Given the description of an element on the screen output the (x, y) to click on. 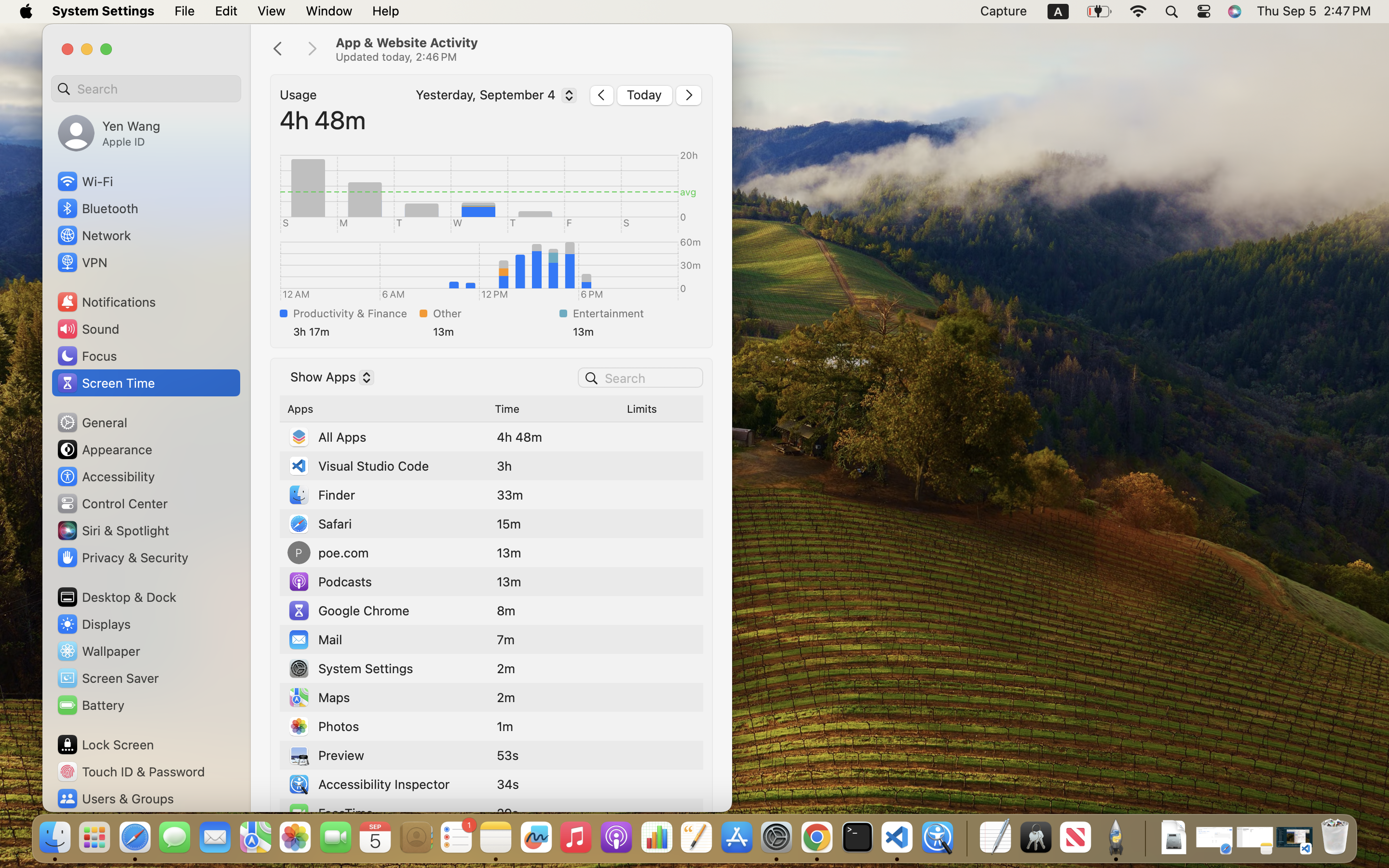
System Settings Element type: AXStaticText (349, 667)
Maps Element type: AXStaticText (318, 696)
13m Element type: AXStaticText (494, 331)
29s Element type: AXStaticText (507, 812)
General Element type: AXStaticText (91, 422)
